Given the description of an element on the screen output the (x, y) to click on. 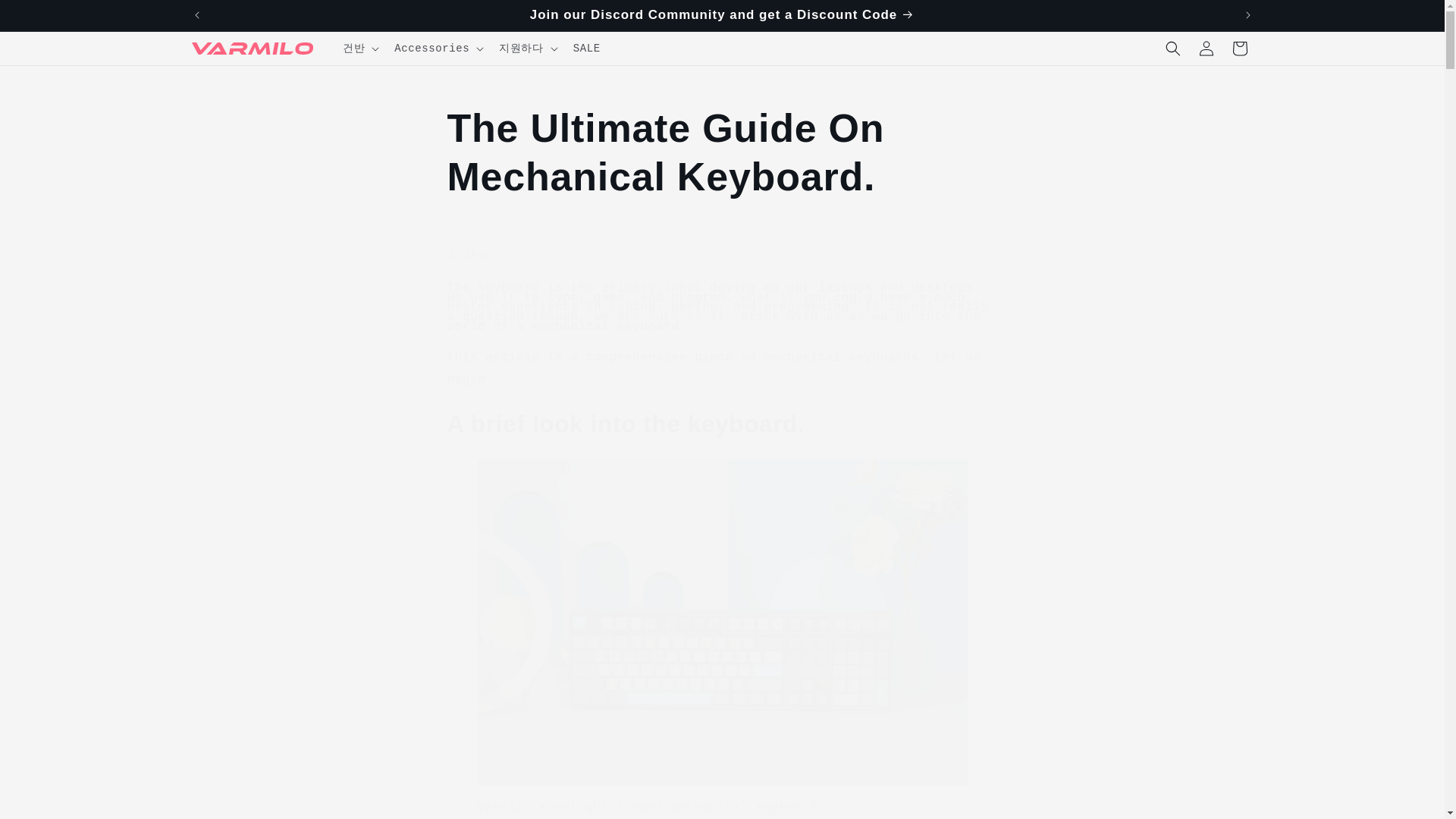
Share (721, 255)
The Ultimate Guide On Mechanical Keyboard. (721, 152)
Varmilo Moonlight keyboard (647, 807)
Join our Discord Community and get a Discount Code (722, 15)
